Given the description of an element on the screen output the (x, y) to click on. 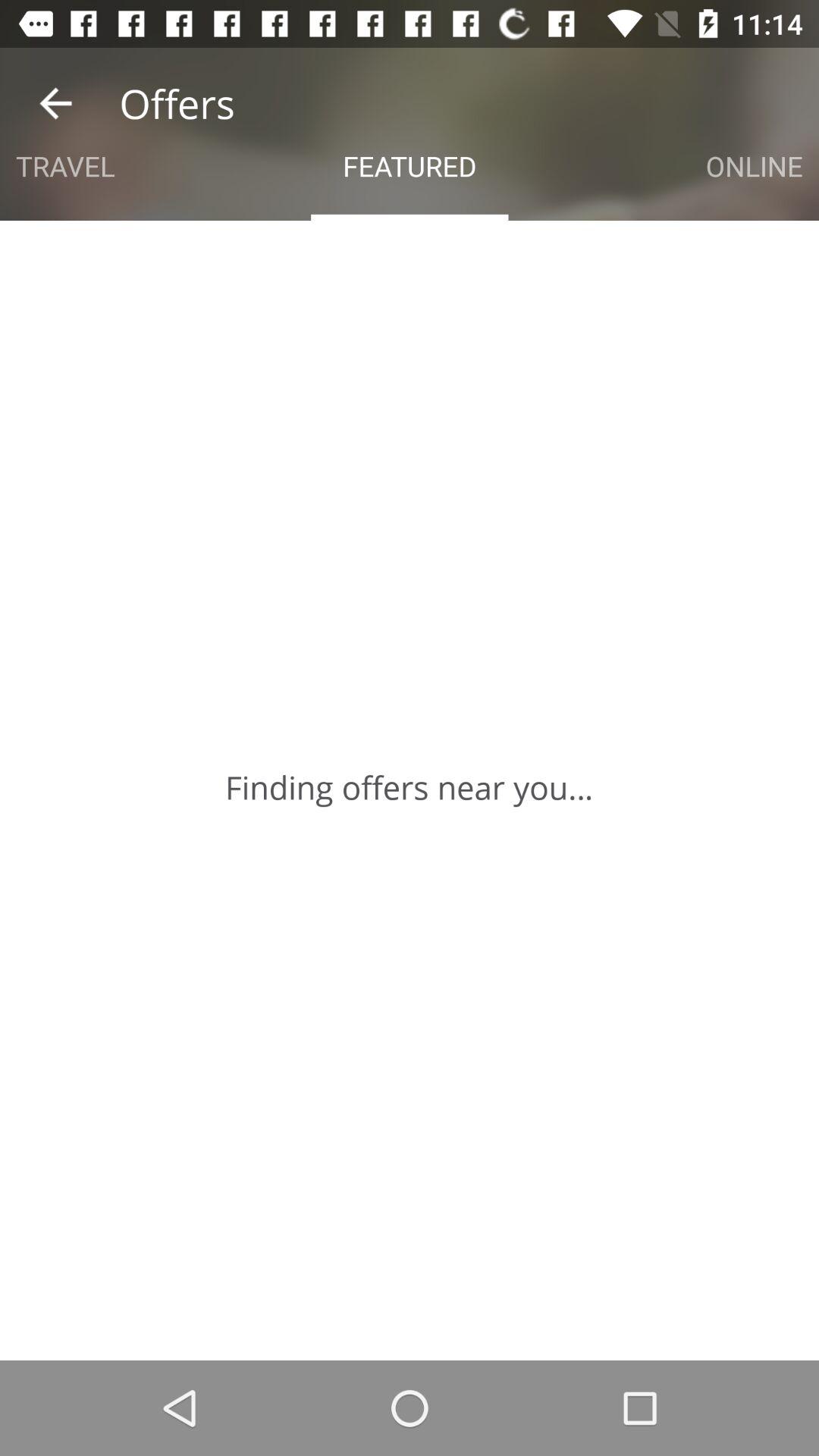
select the icon below offers item (64, 165)
